Given the description of an element on the screen output the (x, y) to click on. 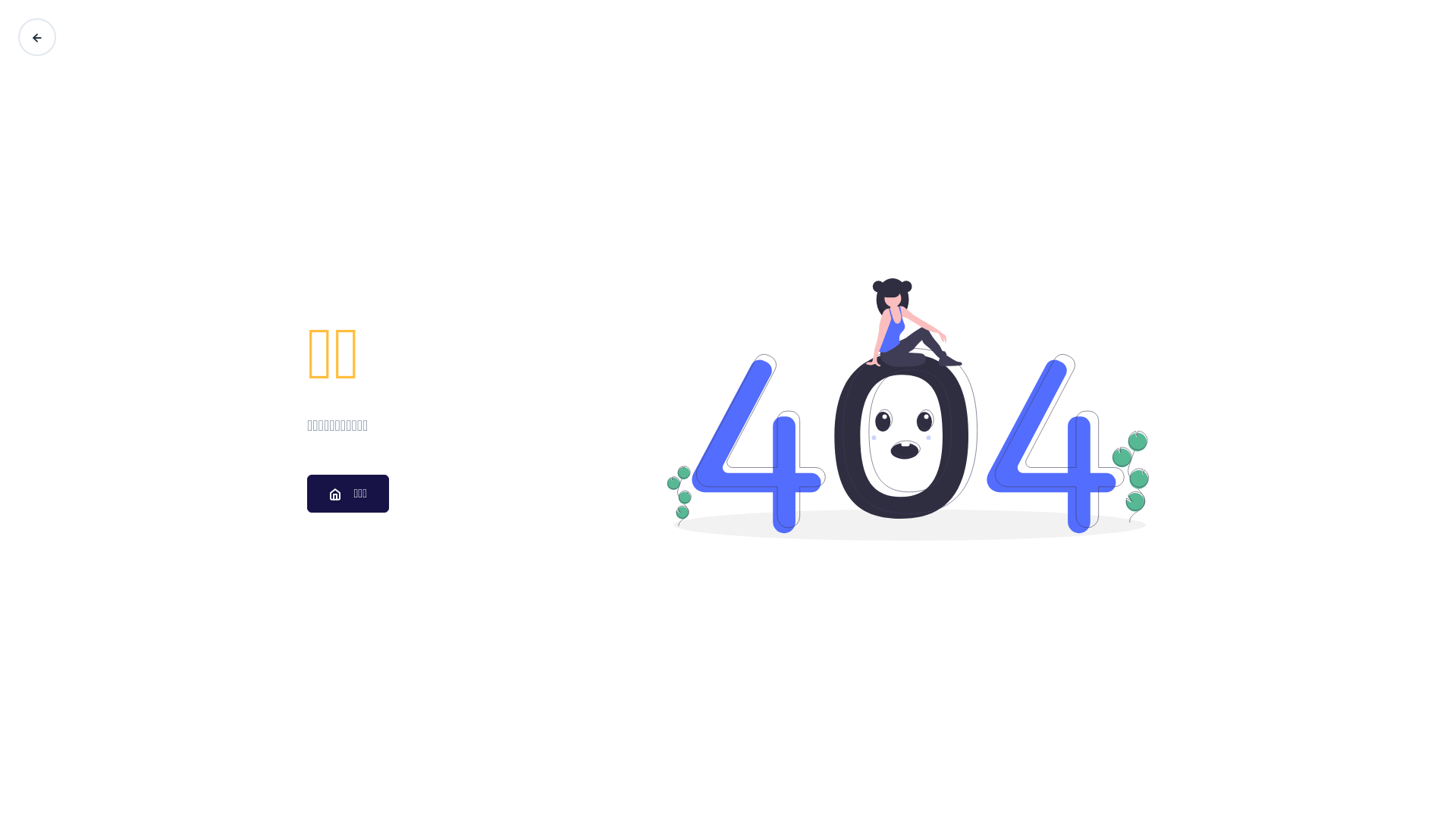
Go back Element type: hover (37, 37)
